Given the description of an element on the screen output the (x, y) to click on. 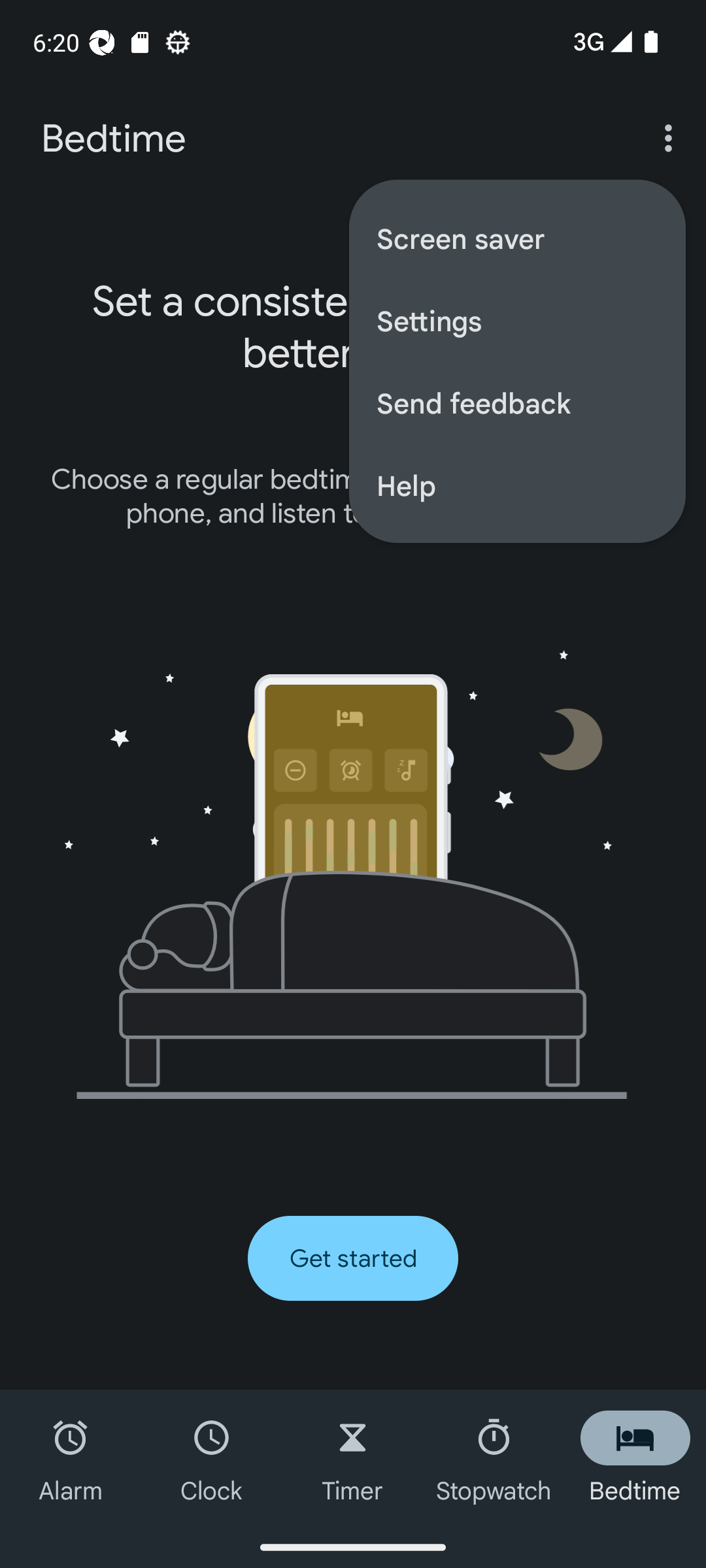
Screen saver (516, 237)
Settings (516, 319)
Send feedback (516, 401)
Help (516, 484)
